Given the description of an element on the screen output the (x, y) to click on. 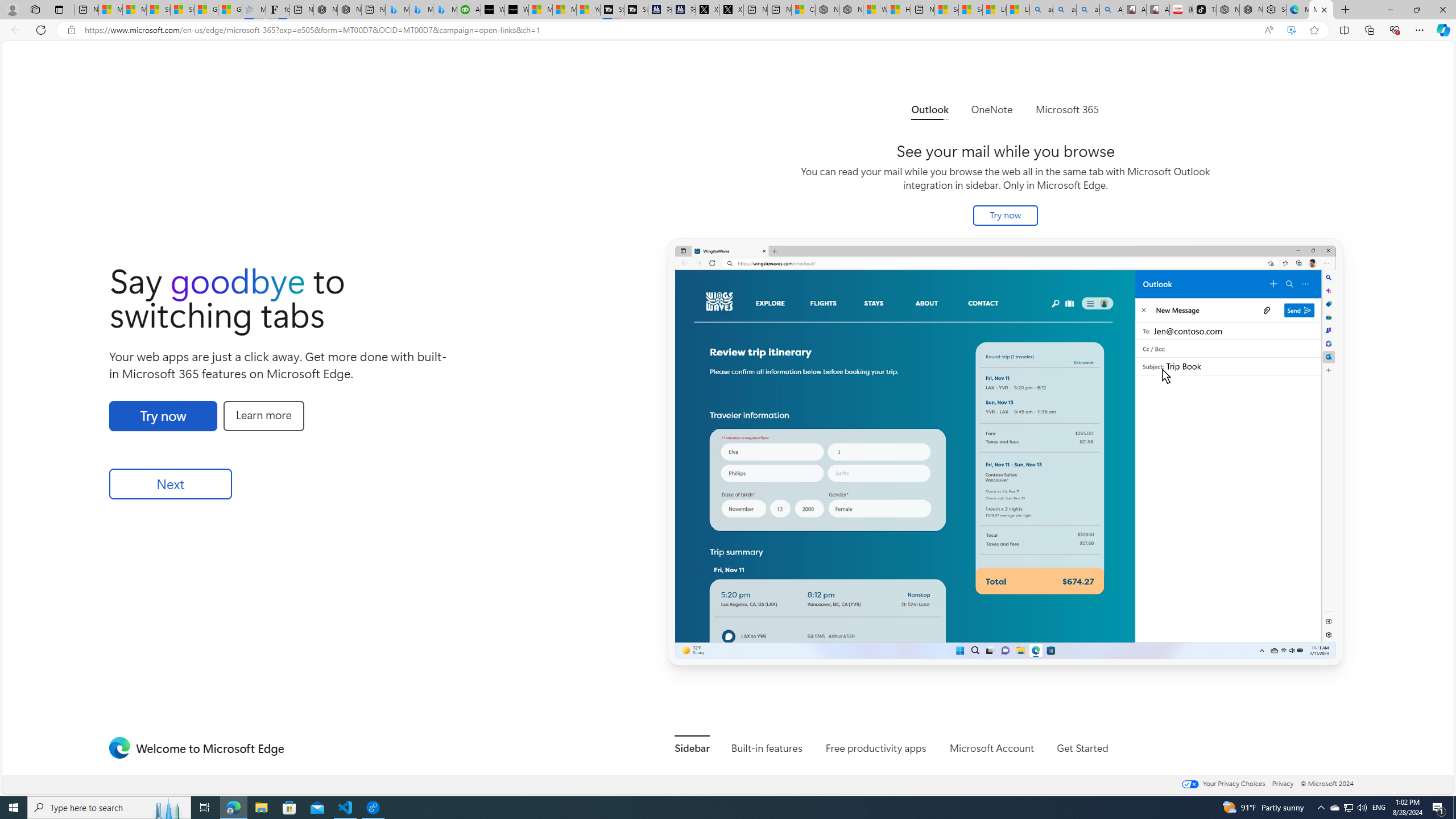
Accounting Software for Accountants, CPAs and Bookkeepers (469, 9)
